Given the description of an element on the screen output the (x, y) to click on. 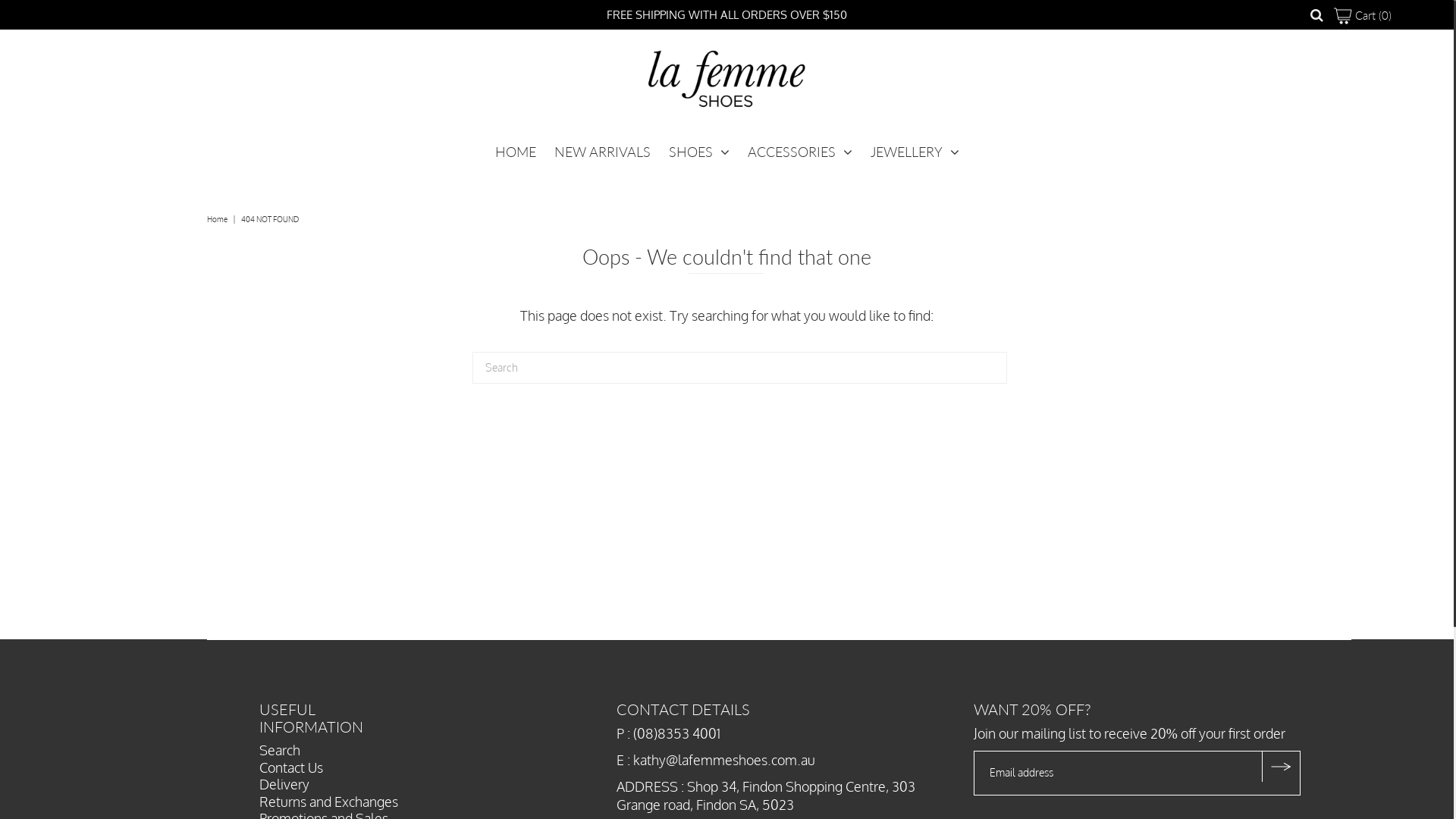
SHOES Element type: text (699, 151)
Delivery Element type: text (284, 783)
ACCESSORIES Element type: text (799, 151)
Cart (0) Element type: text (1362, 14)
NEW ARRIVALS Element type: text (601, 151)
HOME Element type: text (514, 151)
Search Element type: text (279, 749)
JEWELLERY Element type: text (914, 151)
Contact Us Element type: text (291, 767)
Home Element type: text (219, 218)
Returns and Exchanges Element type: text (328, 801)
